Given the description of an element on the screen output the (x, y) to click on. 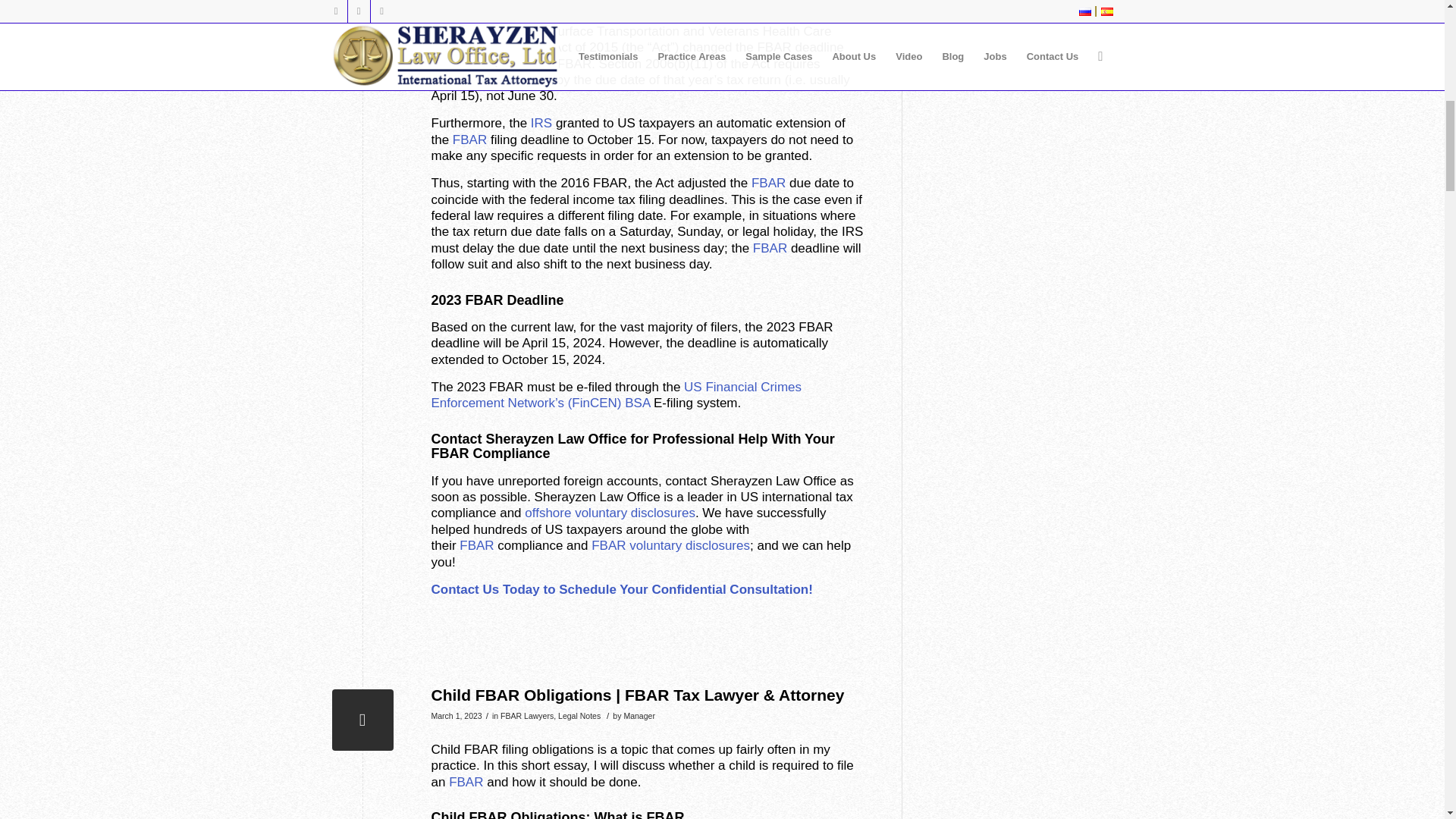
Posts by Manager (639, 715)
